Given the description of an element on the screen output the (x, y) to click on. 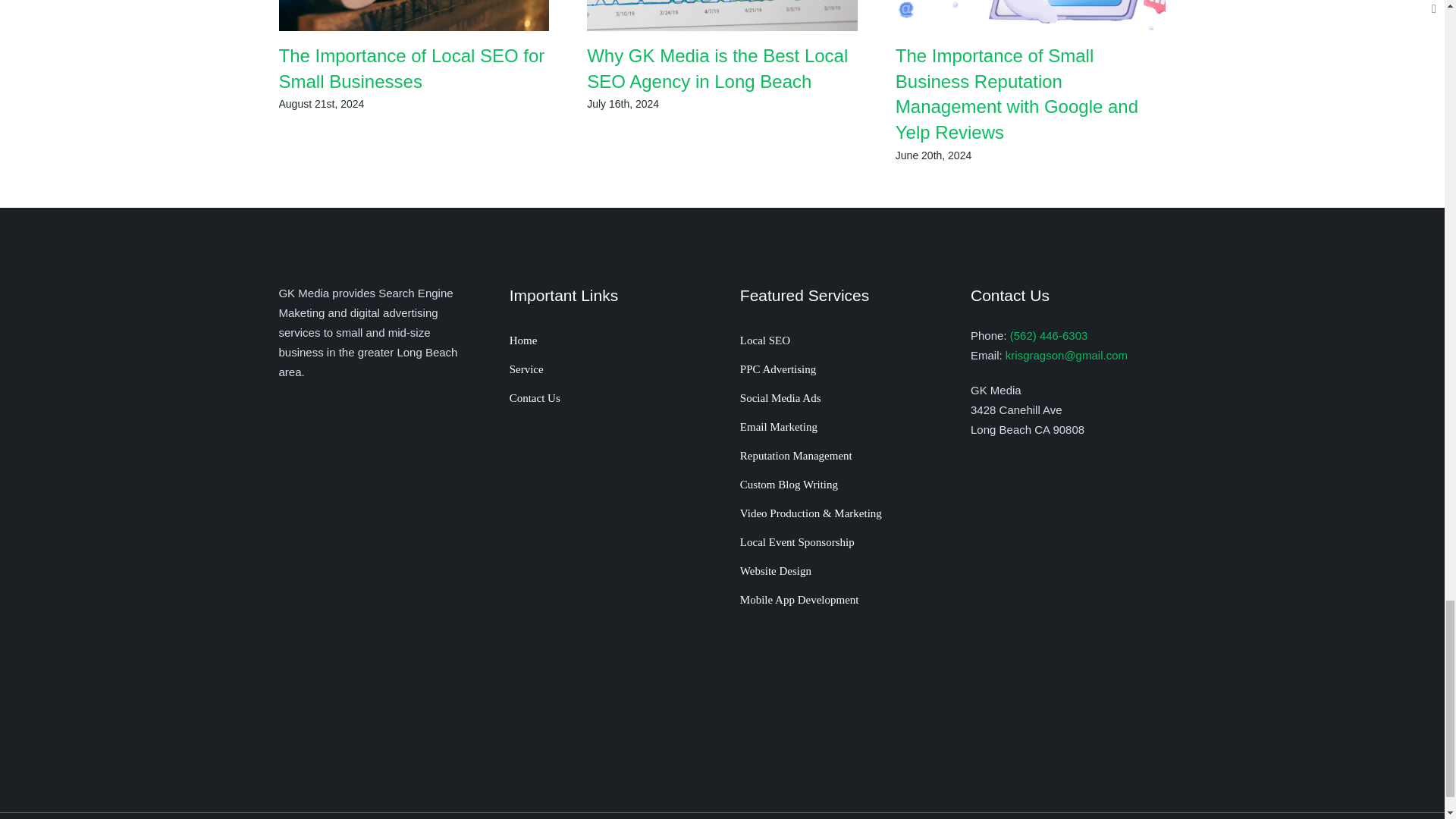
The Importance of Local SEO for Small Businesses (411, 68)
Why GK Media is the Best Local SEO Agency in Long Beach (716, 68)
The Importance of Local SEO for Small Businesses (411, 68)
Best Bus 2024 (606, 534)
